Given the description of an element on the screen output the (x, y) to click on. 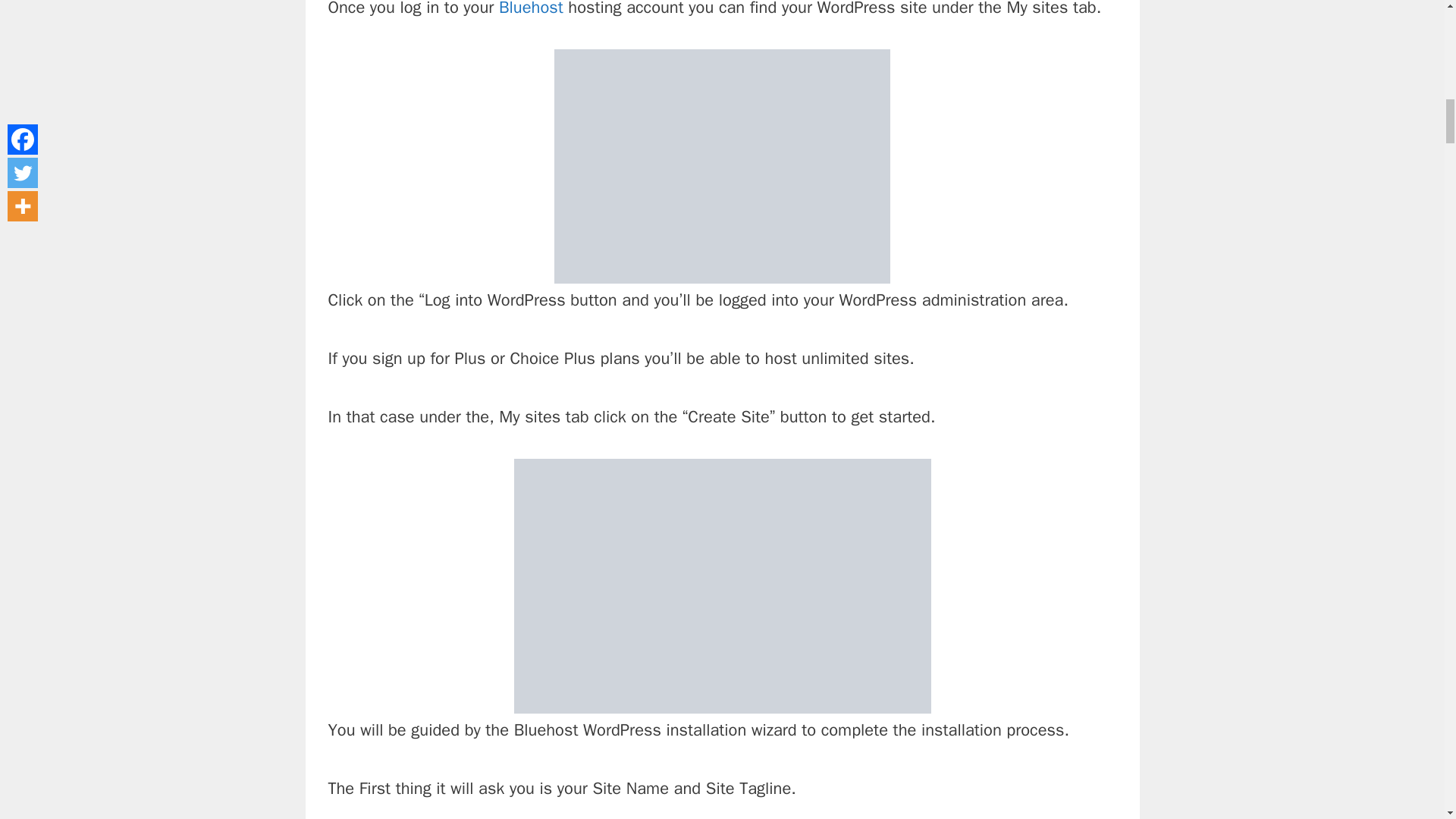
Bluehost (533, 9)
